Given the description of an element on the screen output the (x, y) to click on. 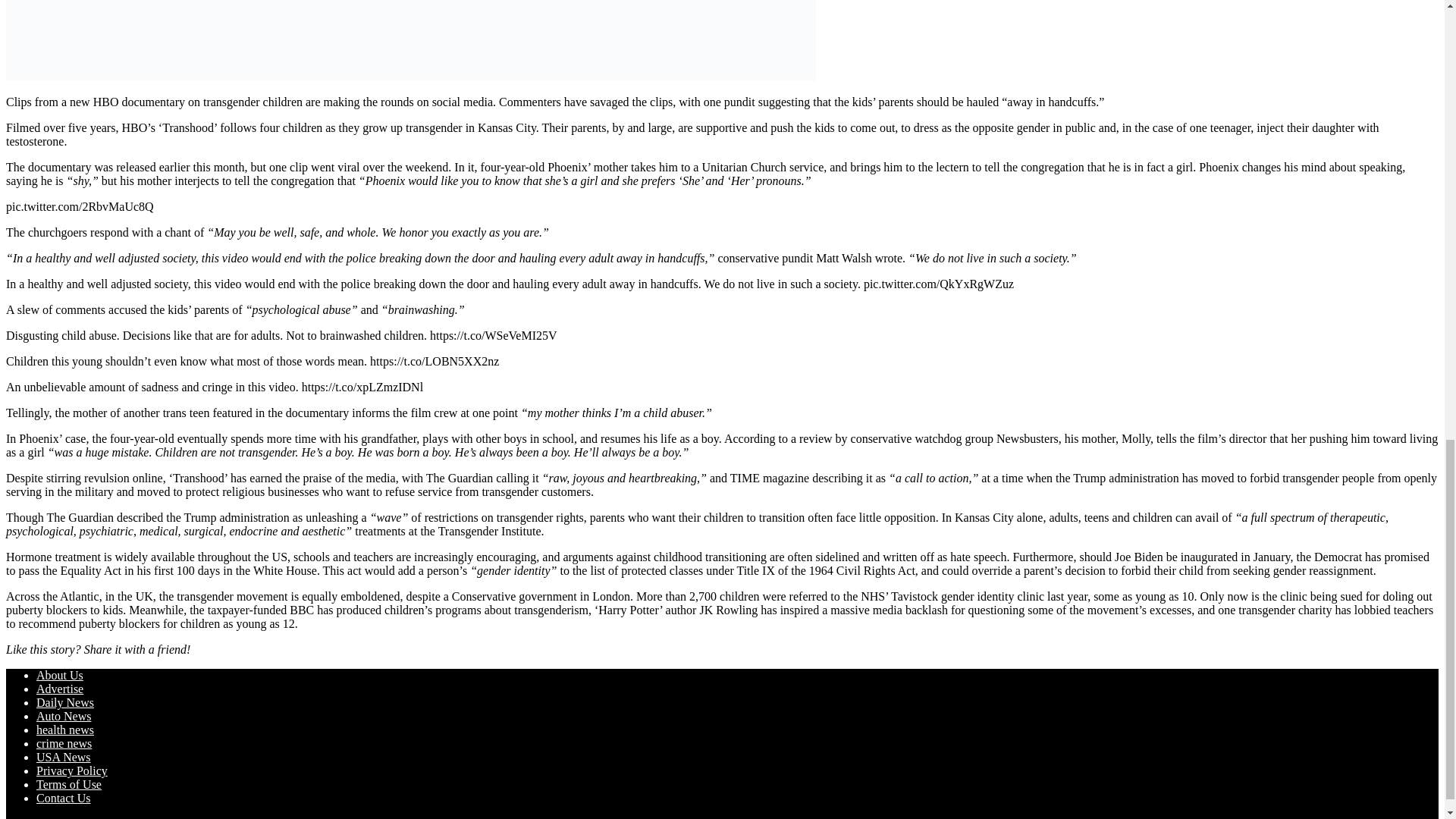
Privacy Policy (71, 770)
health news (65, 729)
crime news (63, 743)
Terms of Use (68, 784)
USA News (63, 757)
Advertise (59, 688)
About Us (59, 675)
Daily News (65, 702)
Auto News (63, 716)
Contact Us (63, 797)
